Given the description of an element on the screen output the (x, y) to click on. 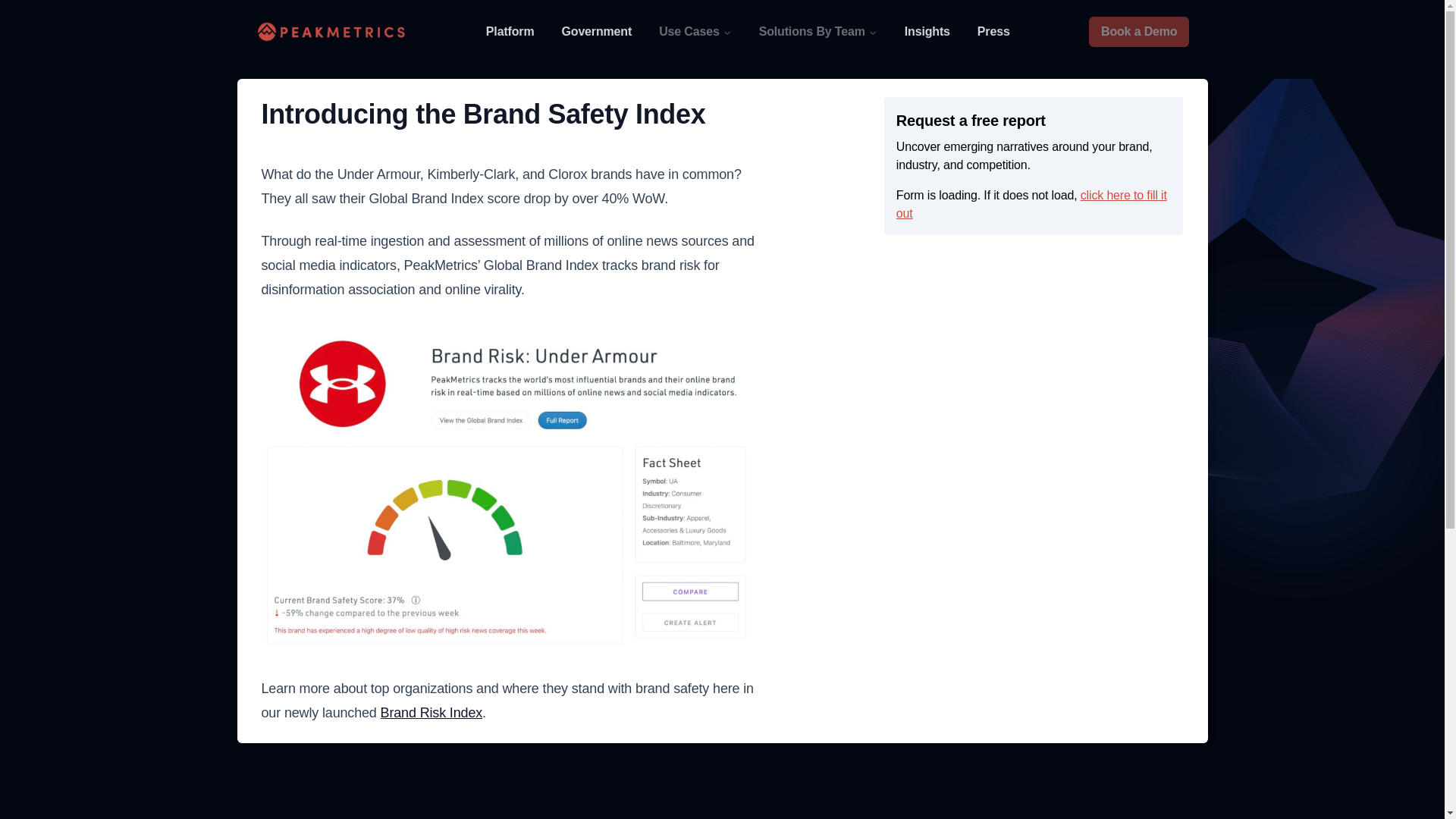
click here to fill it out (1031, 204)
PeakMetrics (330, 31)
Insights (927, 31)
Book a Demo (1139, 31)
Platform (510, 31)
Solutions By Team (817, 31)
Use Cases (695, 31)
Government (595, 31)
Brand Risk Index (431, 712)
Press (993, 31)
